Given the description of an element on the screen output the (x, y) to click on. 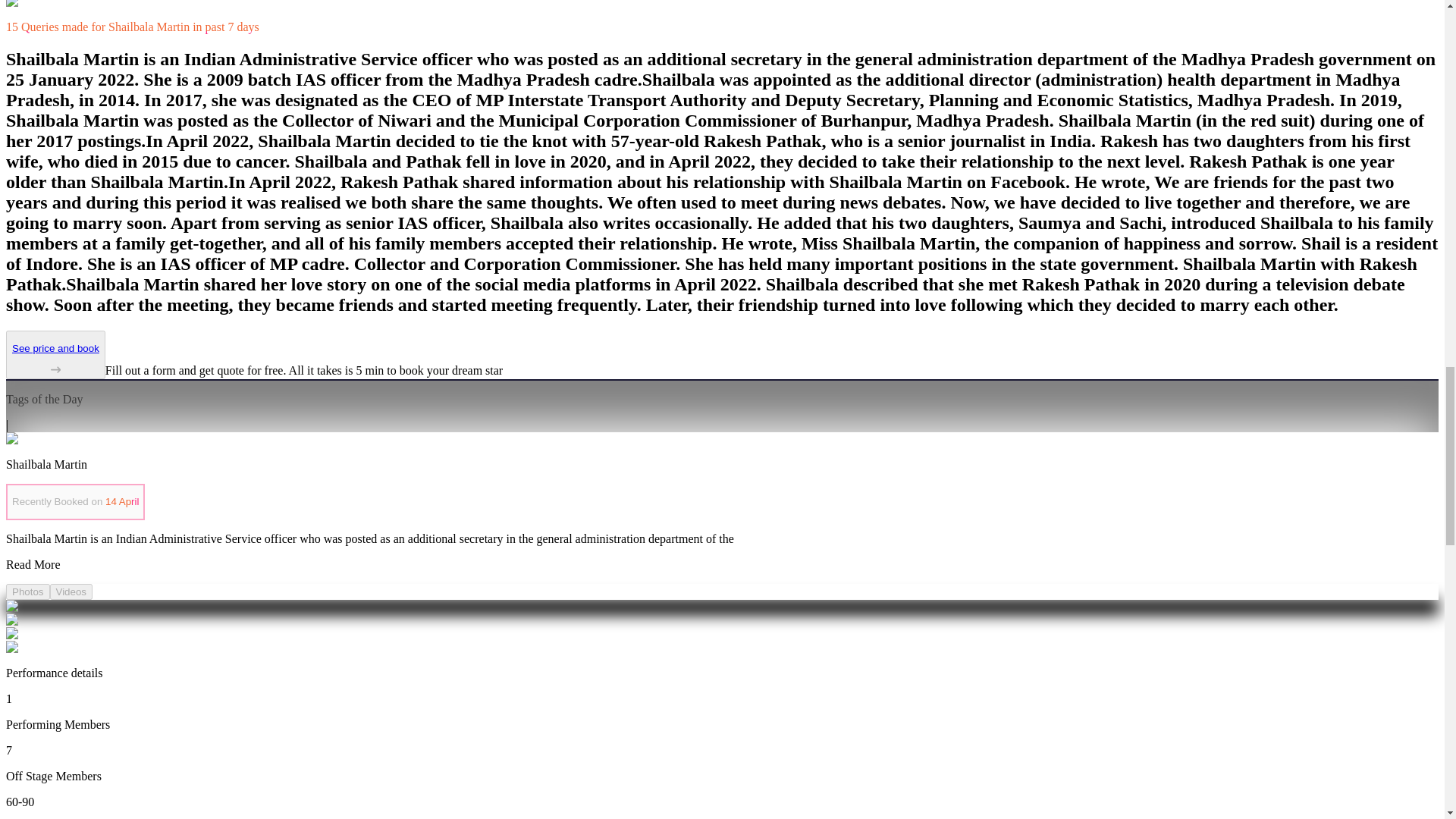
Videos (71, 591)
Recently Booked on 14 April (74, 502)
See price and book (55, 359)
See price and book (54, 354)
Photos (27, 591)
